Given the description of an element on the screen output the (x, y) to click on. 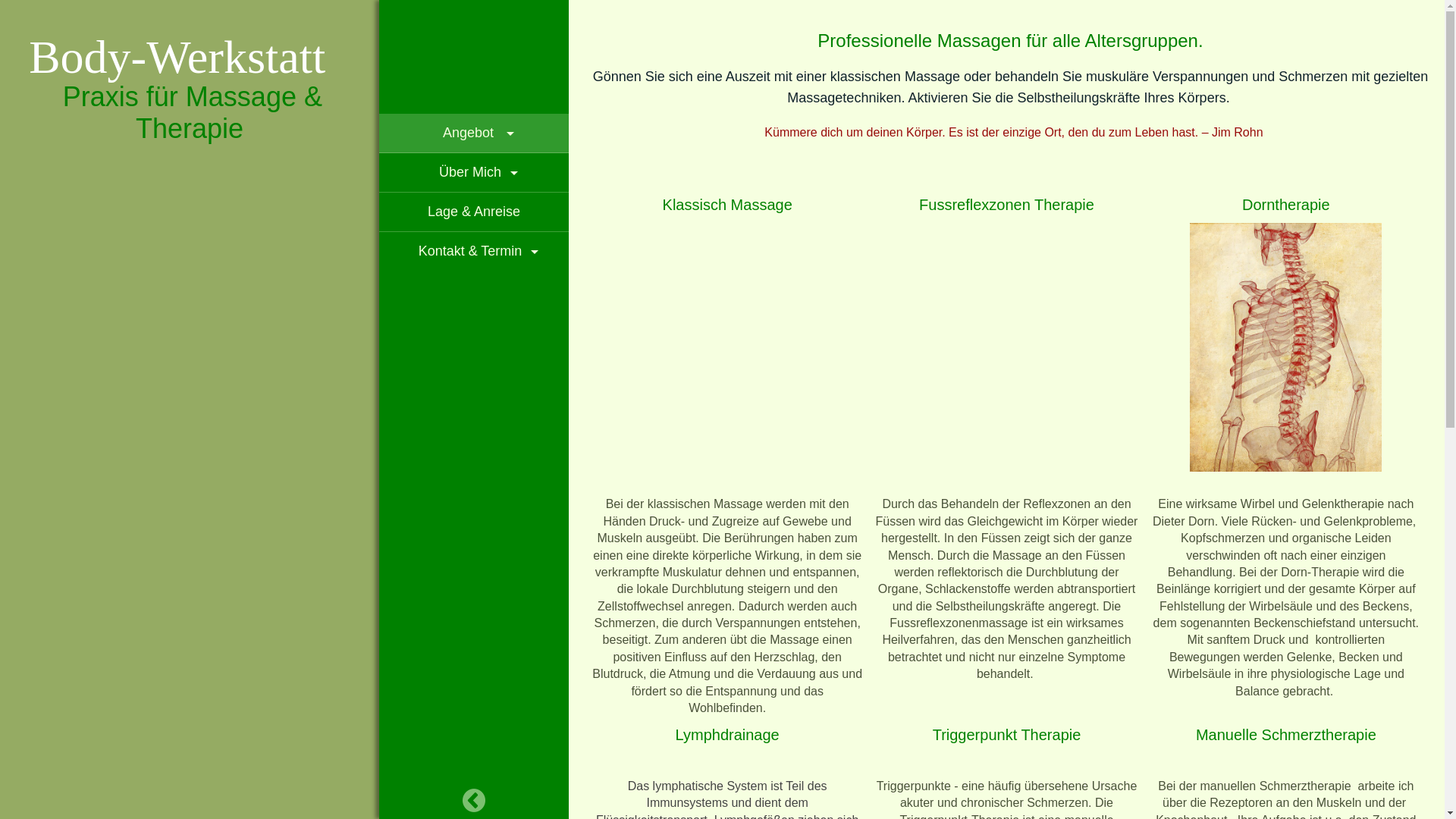
Kontakt & Termin Element type: text (473, 251)
Lage & Anreise Element type: text (473, 212)
Angebot Element type: text (473, 133)
